Given the description of an element on the screen output the (x, y) to click on. 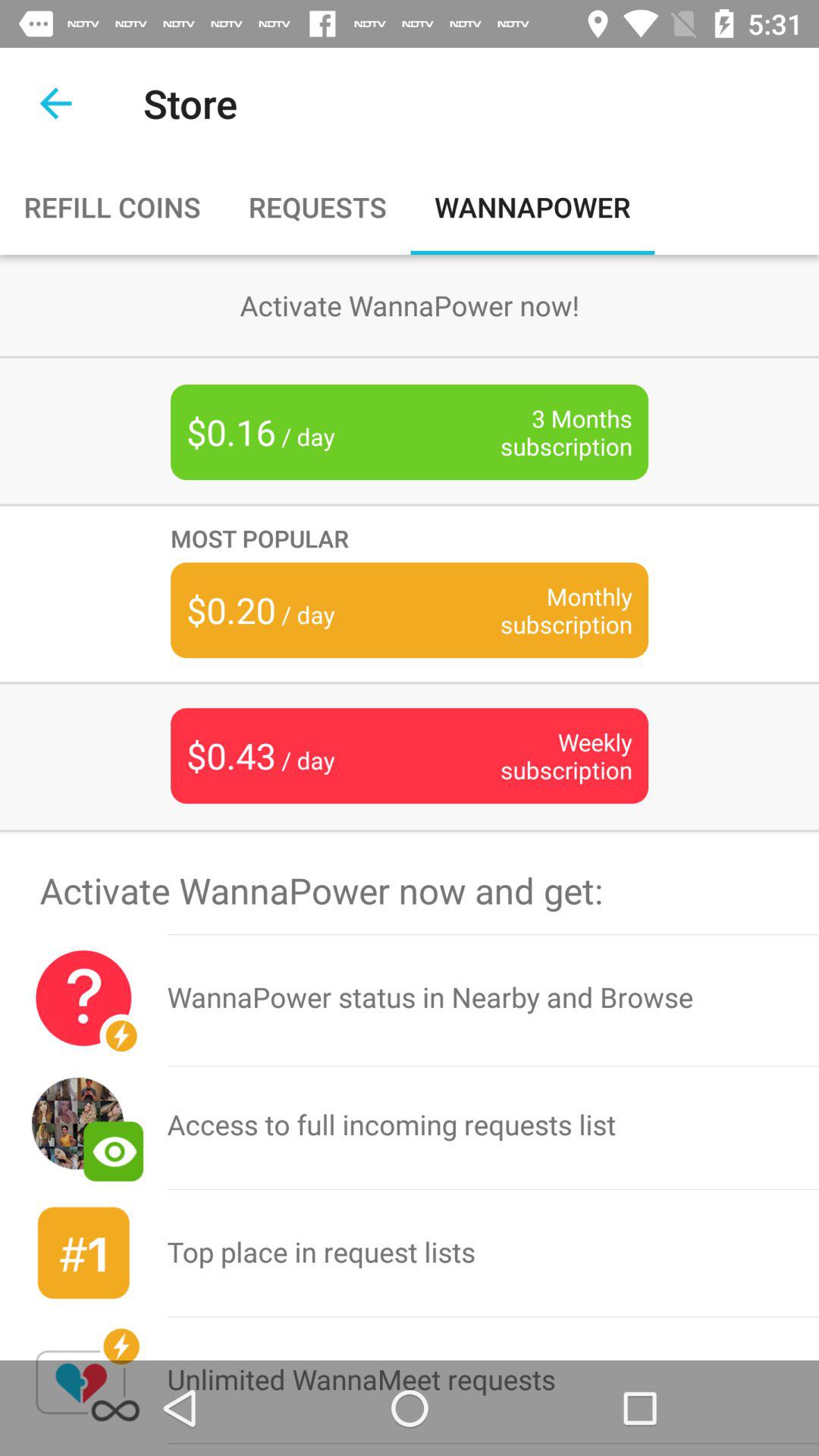
click the item next to $0.43 / day icon (543, 755)
